Given the description of an element on the screen output the (x, y) to click on. 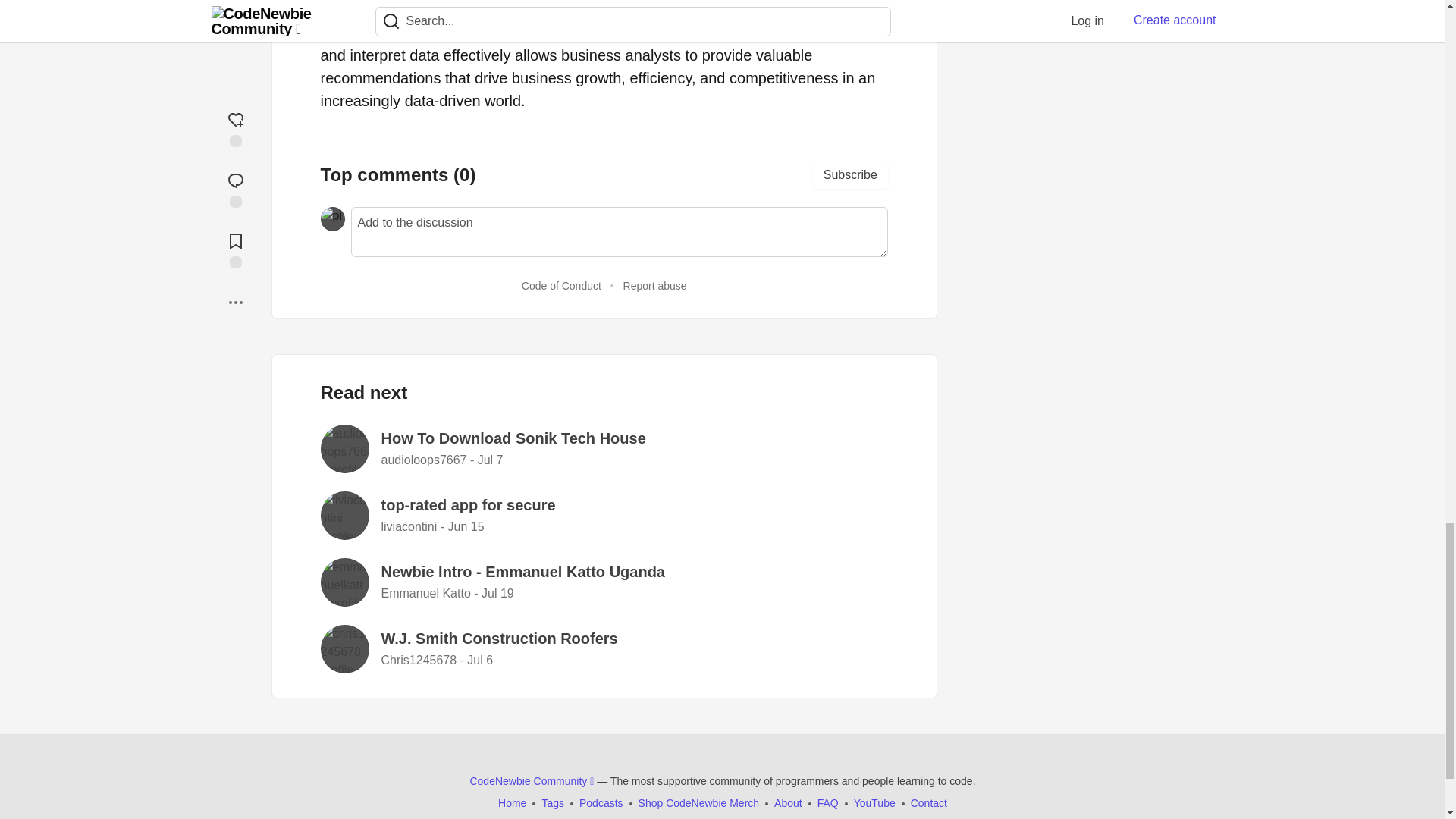
Report abuse (655, 285)
Code of Conduct (561, 285)
